Given the description of an element on the screen output the (x, y) to click on. 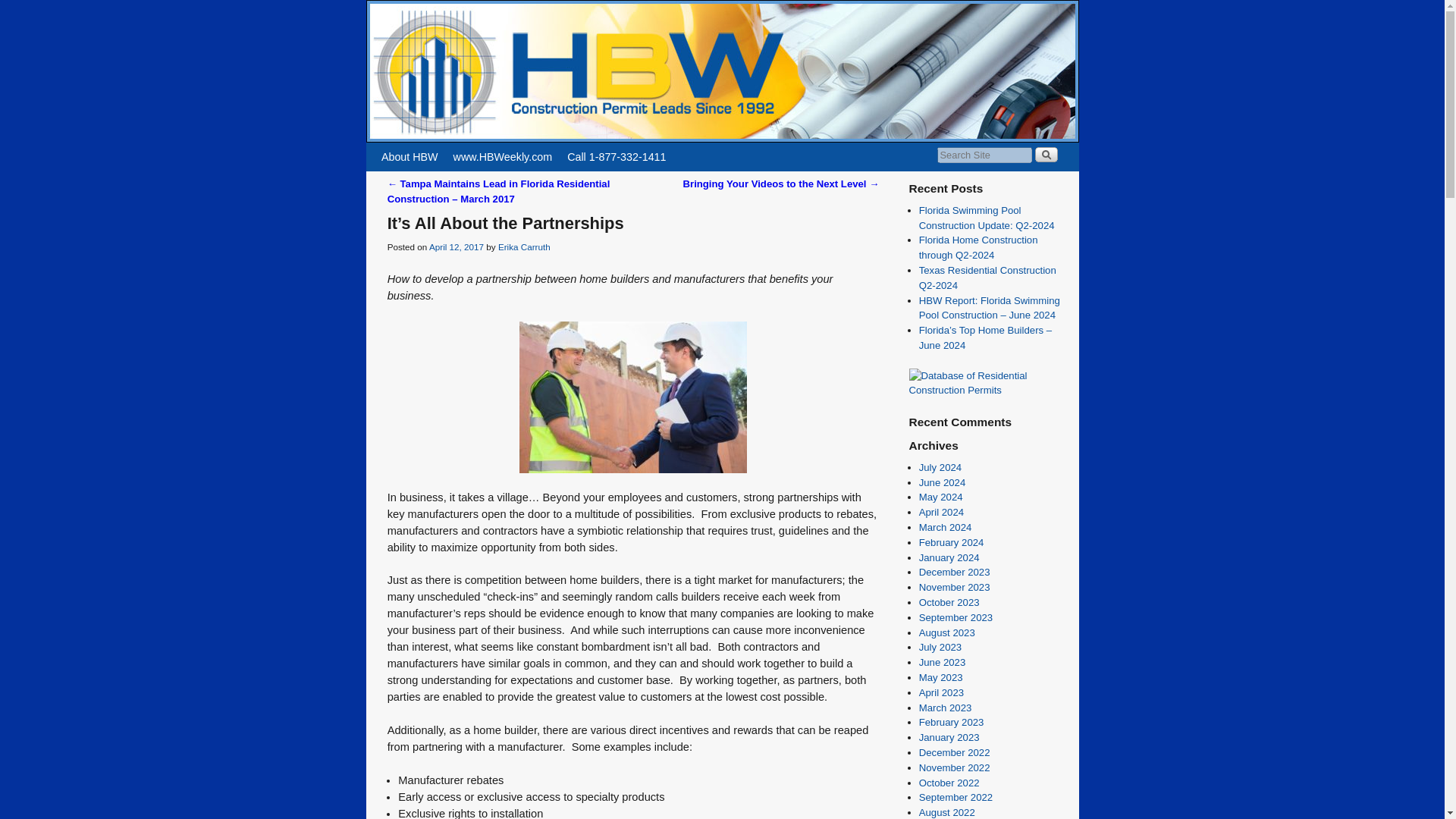
July 2024 (939, 467)
Call 1-877-332-1411 (615, 156)
January 2024 (948, 557)
Florida Swimming Pool Construction Update: Q2-2024 (986, 217)
April 2024 (940, 511)
May 2024 (940, 496)
8:40 pm (456, 246)
View all posts by Erika Carruth (523, 246)
April 12, 2017 (456, 246)
Erika Carruth (523, 246)
www.HBWeekly.com (502, 156)
Get a Complimentary Report of Construction Permits (988, 389)
Texas Residential Construction Q2-2024 (987, 277)
Skip to secondary content (413, 148)
Skip to primary content (408, 148)
